Given the description of an element on the screen output the (x, y) to click on. 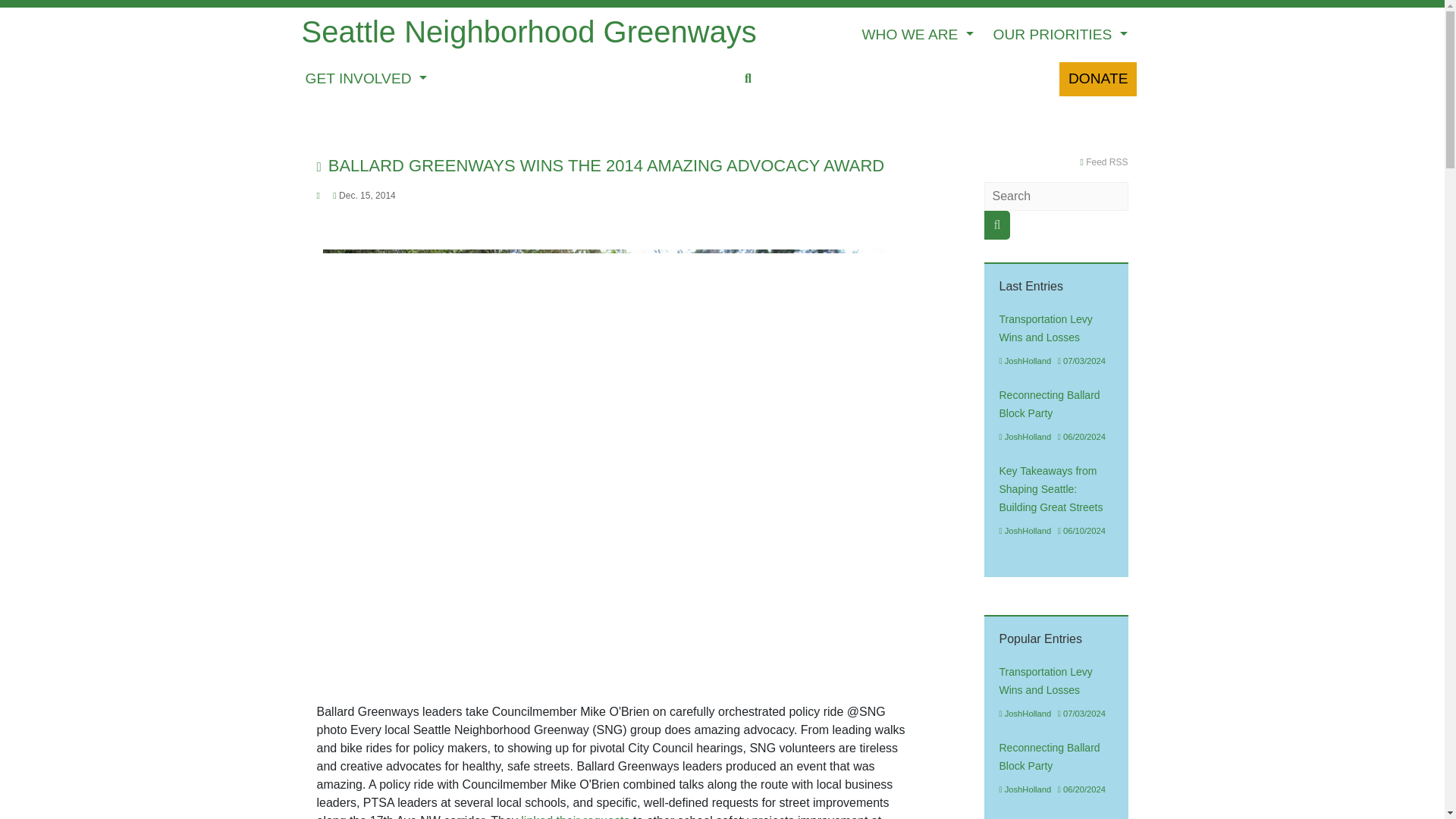
Seattle Neighborhood Greenways (528, 34)
DONATE (1098, 79)
GET INVOLVED (365, 79)
BALLARD GREENWAYS WINS THE 2014 AMAZING ADVOCACY AWARD (601, 165)
WHO WE ARE (917, 35)
OUR PRIORITIES (1060, 35)
DONATE (1098, 79)
RSS (1103, 162)
